Given the description of an element on the screen output the (x, y) to click on. 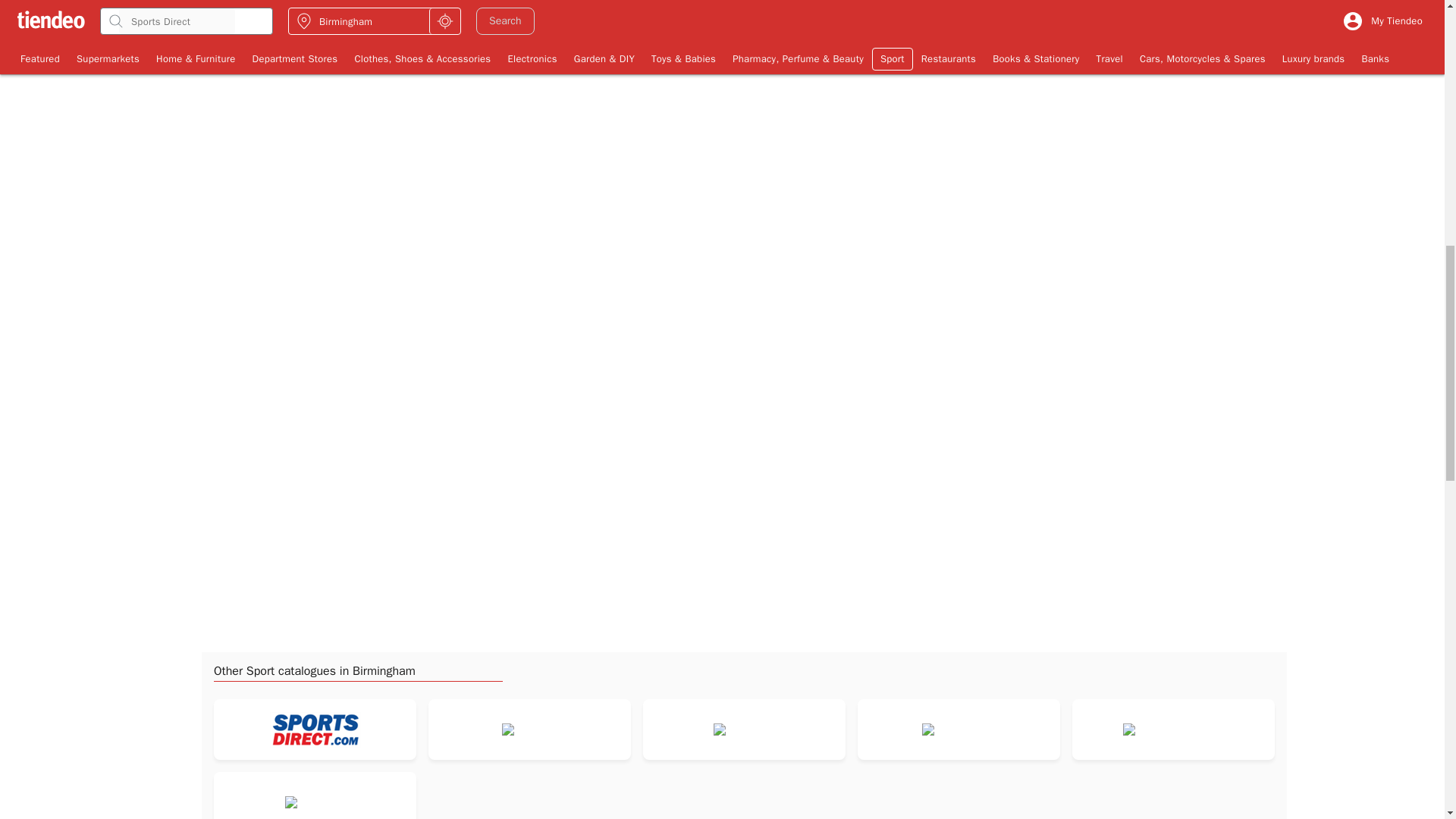
Logo JD Sports (744, 729)
Logo Speedo (529, 729)
Logo Trespass (315, 802)
Logo New Balance (957, 729)
Logo Mountain Warehouse (1172, 729)
